Given the description of an element on the screen output the (x, y) to click on. 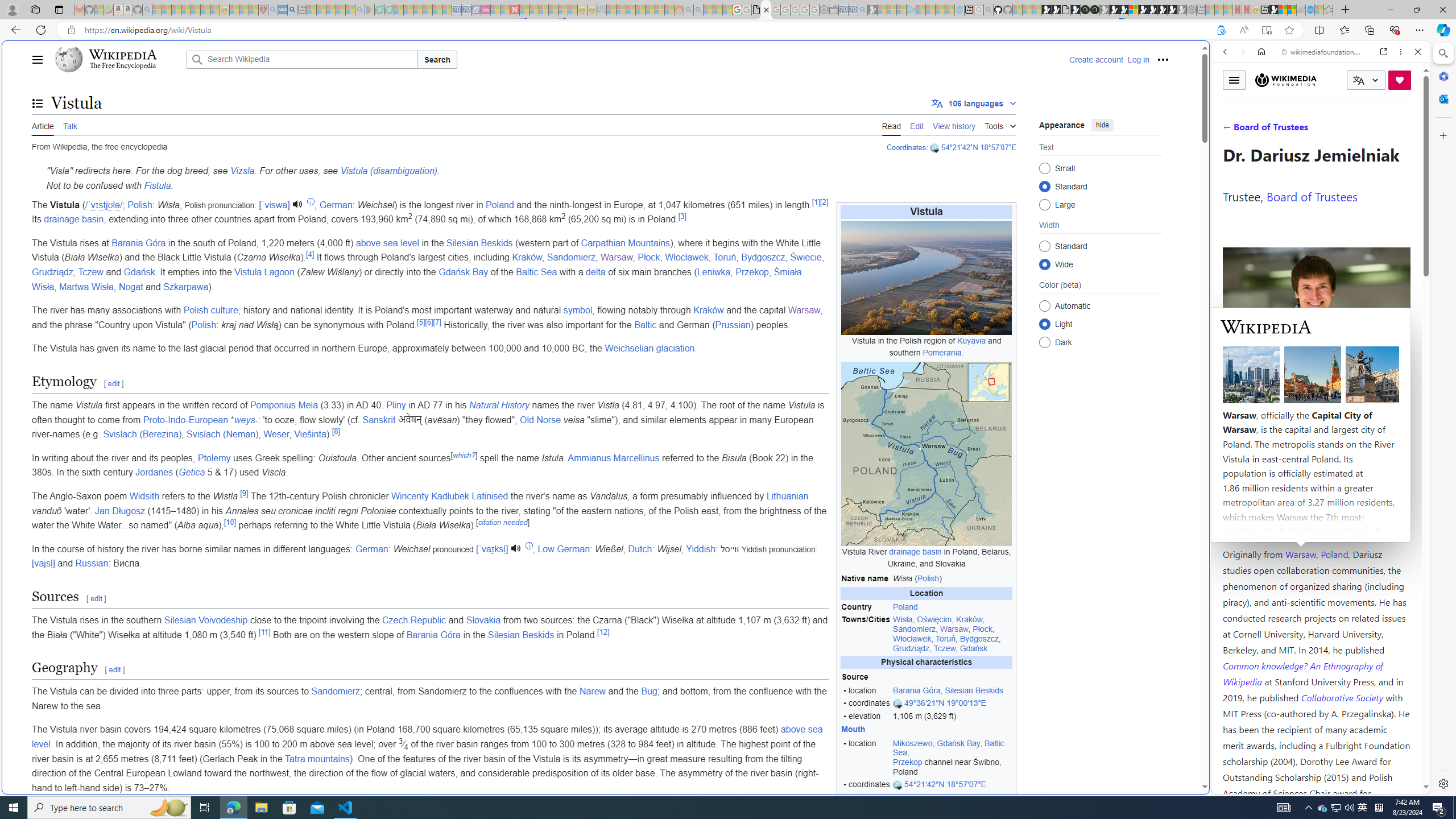
IMAGES (1262, 130)
Talk (69, 124)
Side bar (1443, 418)
Prussian (732, 324)
Silesian Beskids (520, 634)
edit (114, 669)
Russian (92, 563)
[8] (335, 430)
Edit (917, 124)
